Given the description of an element on the screen output the (x, y) to click on. 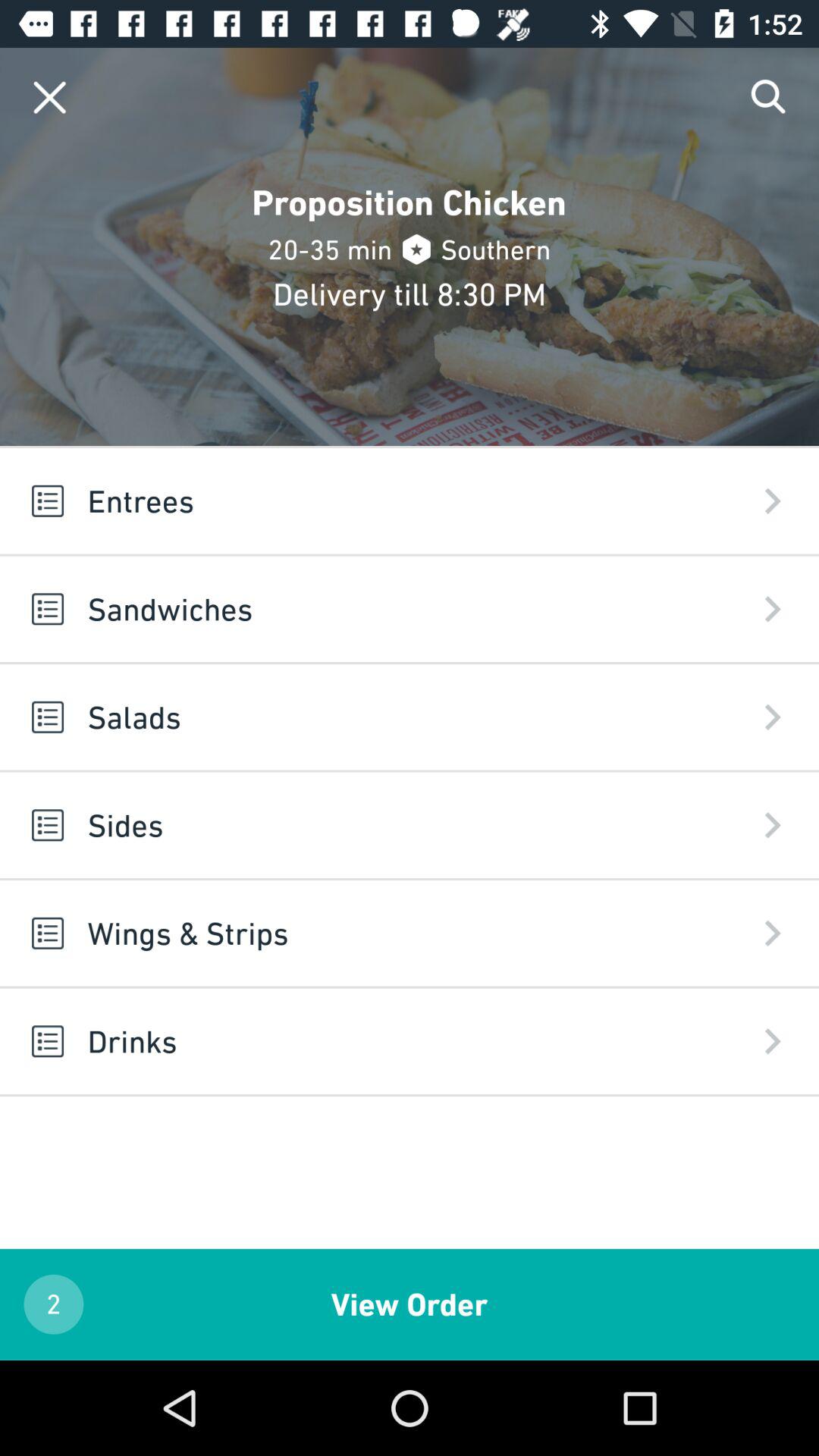
close (49, 97)
